Given the description of an element on the screen output the (x, y) to click on. 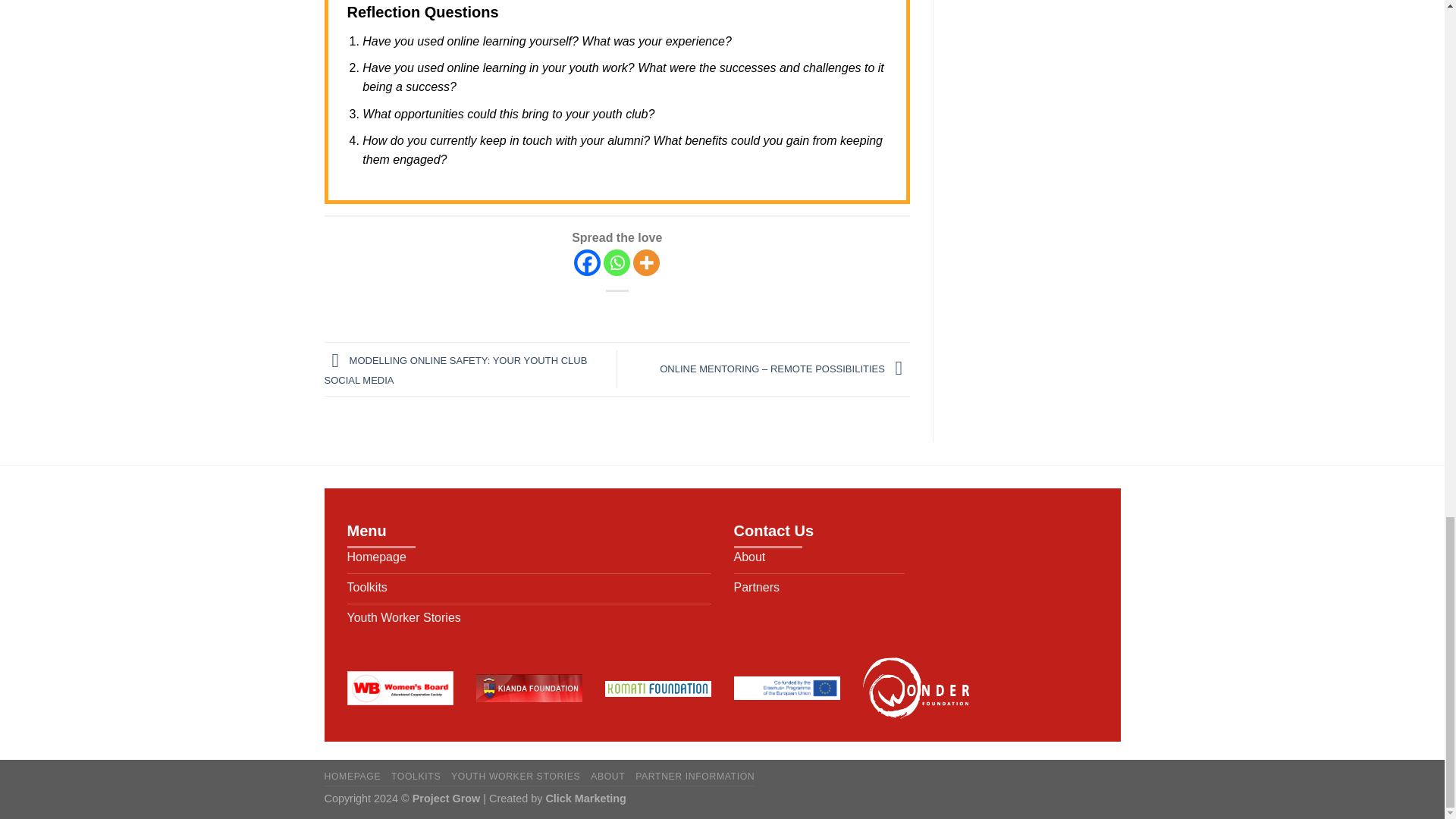
About (818, 558)
More (646, 262)
Whatsapp (617, 262)
Youth Worker Stories (529, 619)
Toolkits (529, 589)
MODELLING ONLINE SAFETY: YOUR YOUTH CLUB SOCIAL MEDIA (456, 369)
Homepage (529, 558)
Facebook (586, 262)
